Given the description of an element on the screen output the (x, y) to click on. 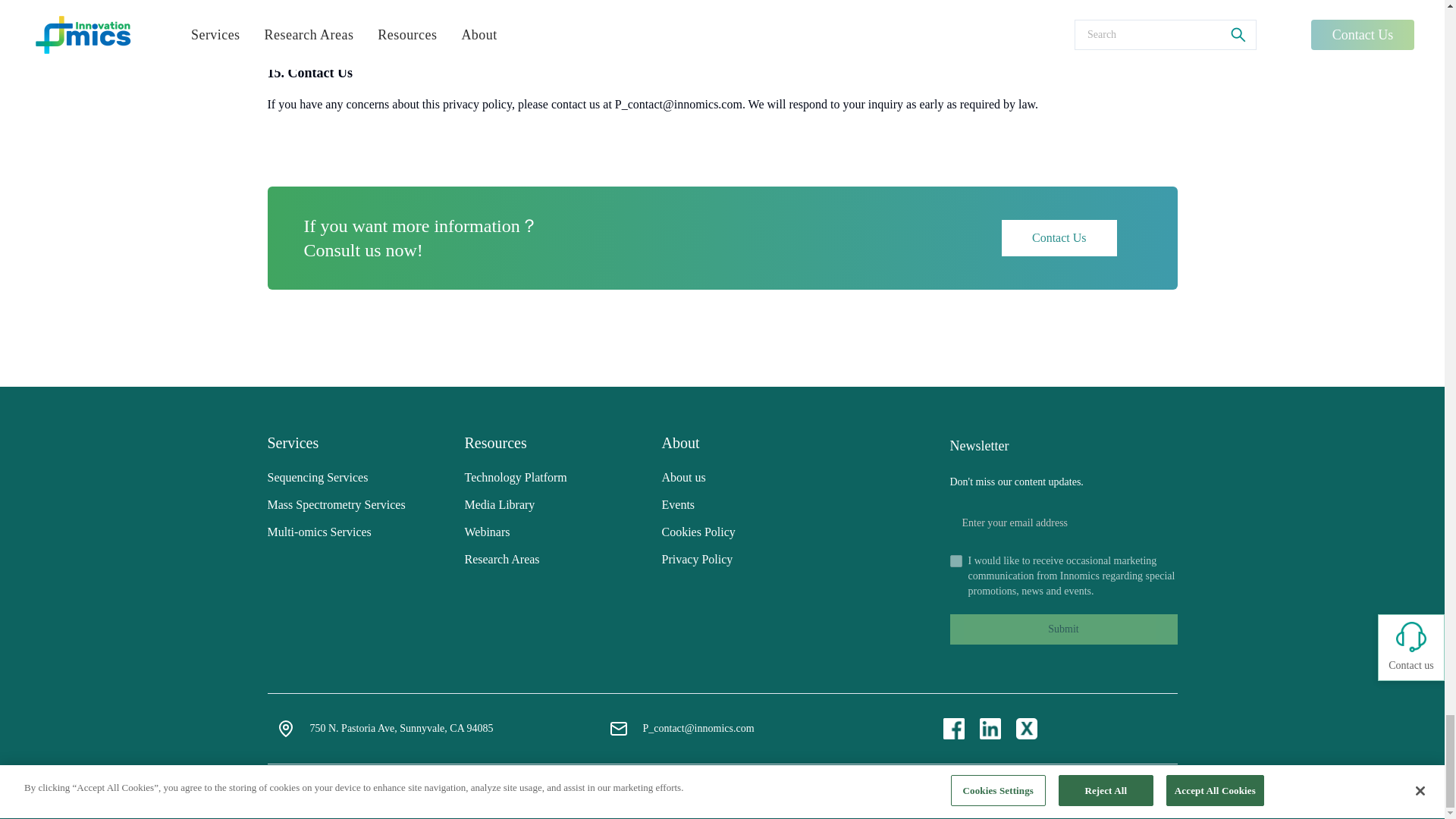
Research Areas (501, 558)
Submit (1062, 629)
Contact Us (1058, 238)
About us (682, 477)
Privacy Policy (696, 558)
Technology Platform (515, 477)
Cookies Policy (698, 531)
Events (677, 504)
Media Library (499, 504)
Multi-omics Services (318, 531)
